Given the description of an element on the screen output the (x, y) to click on. 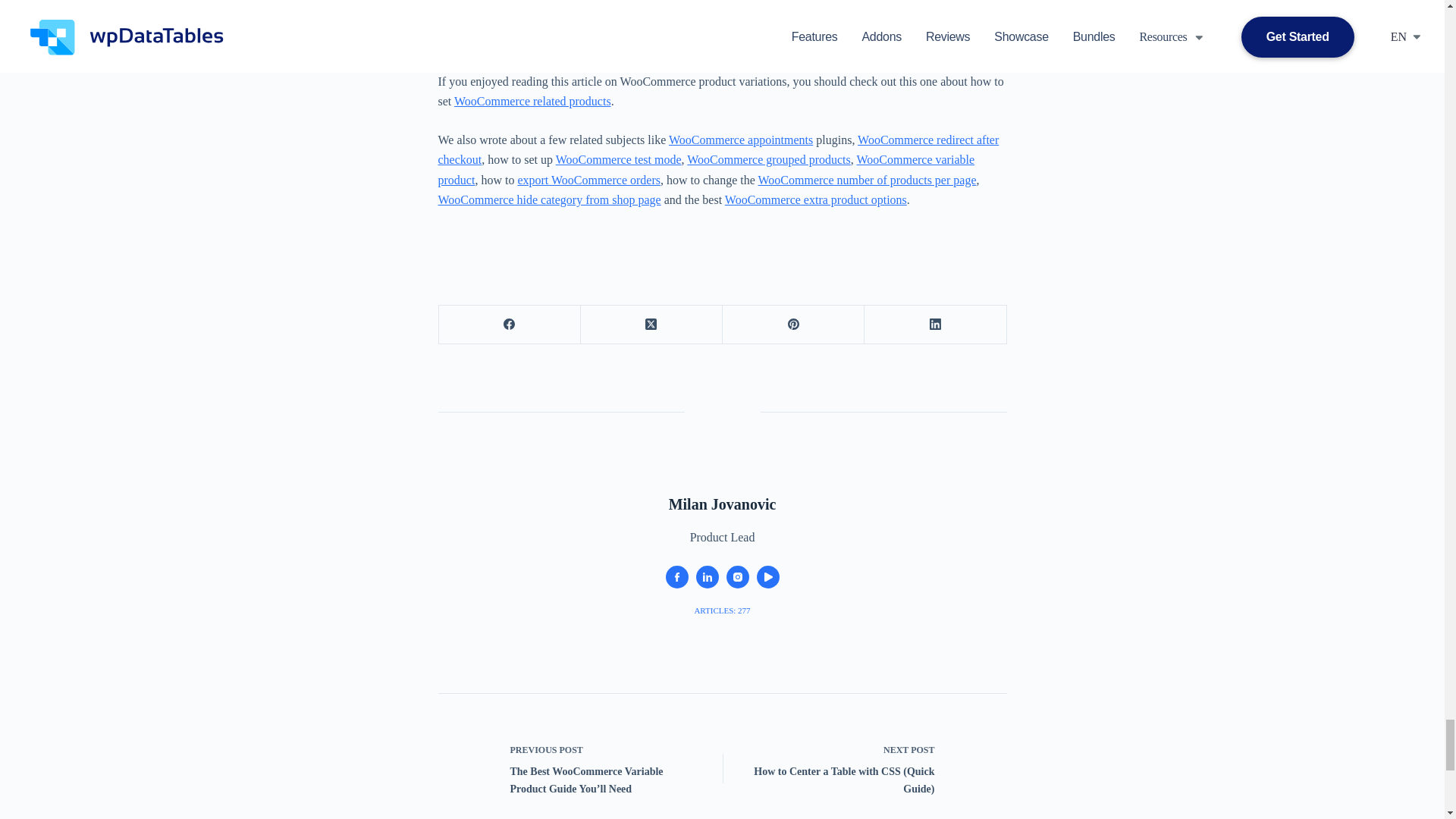
WooCommerce appointments (740, 139)
WooCommerce related products (532, 101)
WooCommerce redirect after checkout (718, 149)
